Given the description of an element on the screen output the (x, y) to click on. 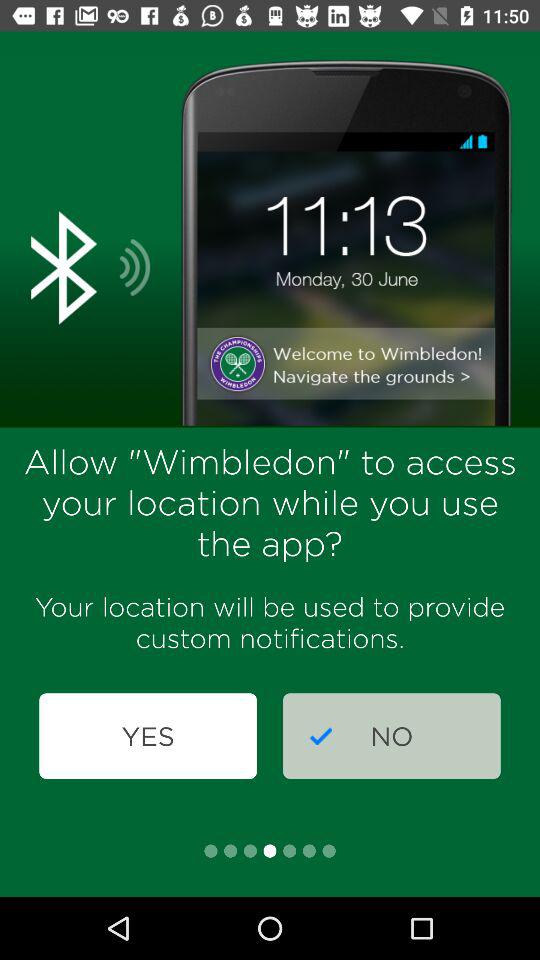
turn off no item (391, 735)
